Given the description of an element on the screen output the (x, y) to click on. 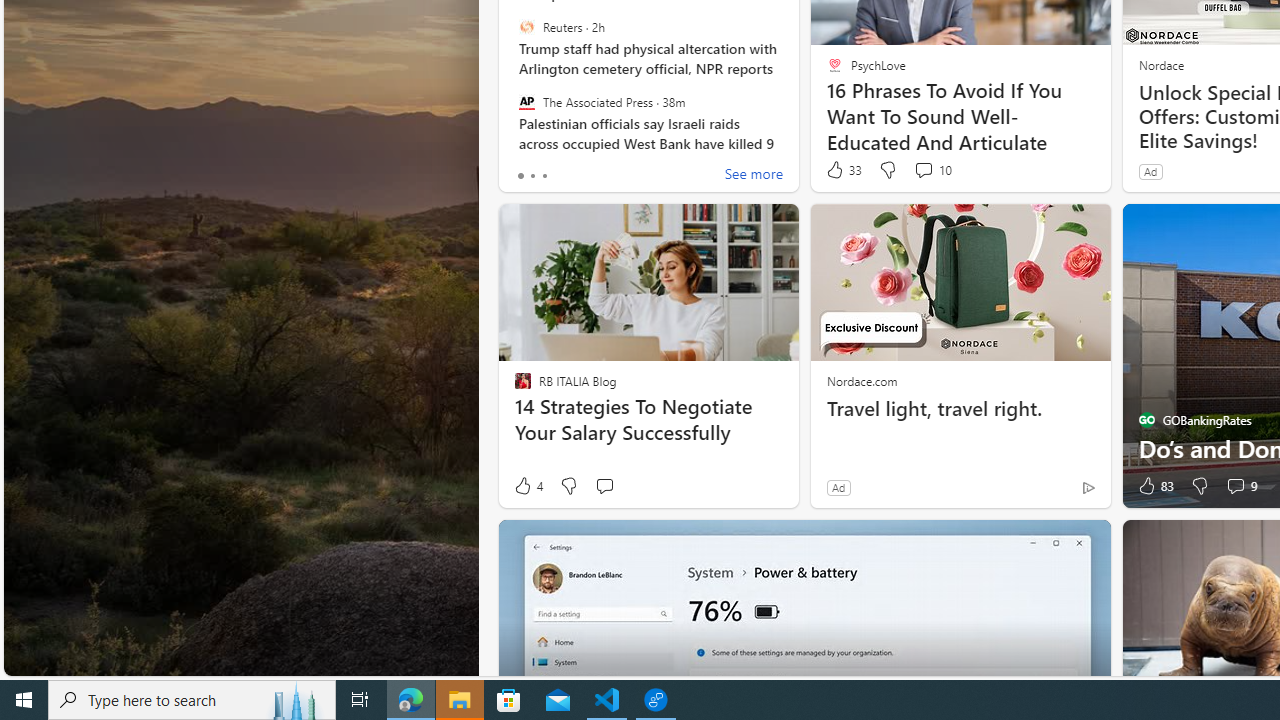
tab-0 (520, 175)
tab-2 (543, 175)
View comments 9 Comment (1234, 485)
View comments 10 Comment (932, 170)
4 Like (527, 485)
Dislike (1199, 485)
Nordace.com (861, 380)
Travel light, travel right. (959, 408)
tab-1 (532, 175)
View comments 10 Comment (923, 169)
